Given the description of an element on the screen output the (x, y) to click on. 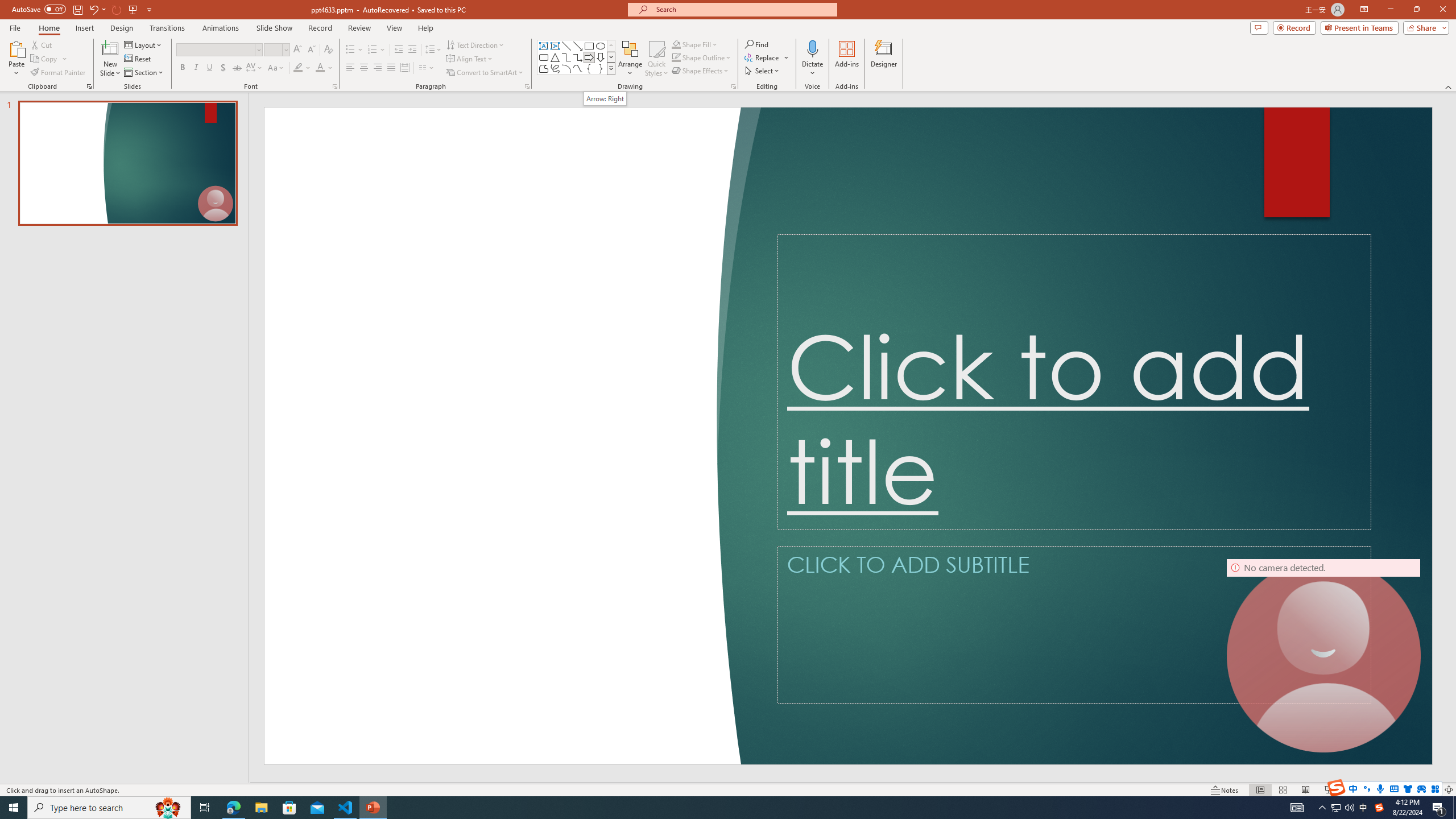
Increase Indent (412, 49)
Rectangle: Rounded Corners (543, 57)
Convert to SmartArt (485, 72)
Reset (138, 58)
Format Object... (733, 85)
Layout (143, 44)
